Given the description of an element on the screen output the (x, y) to click on. 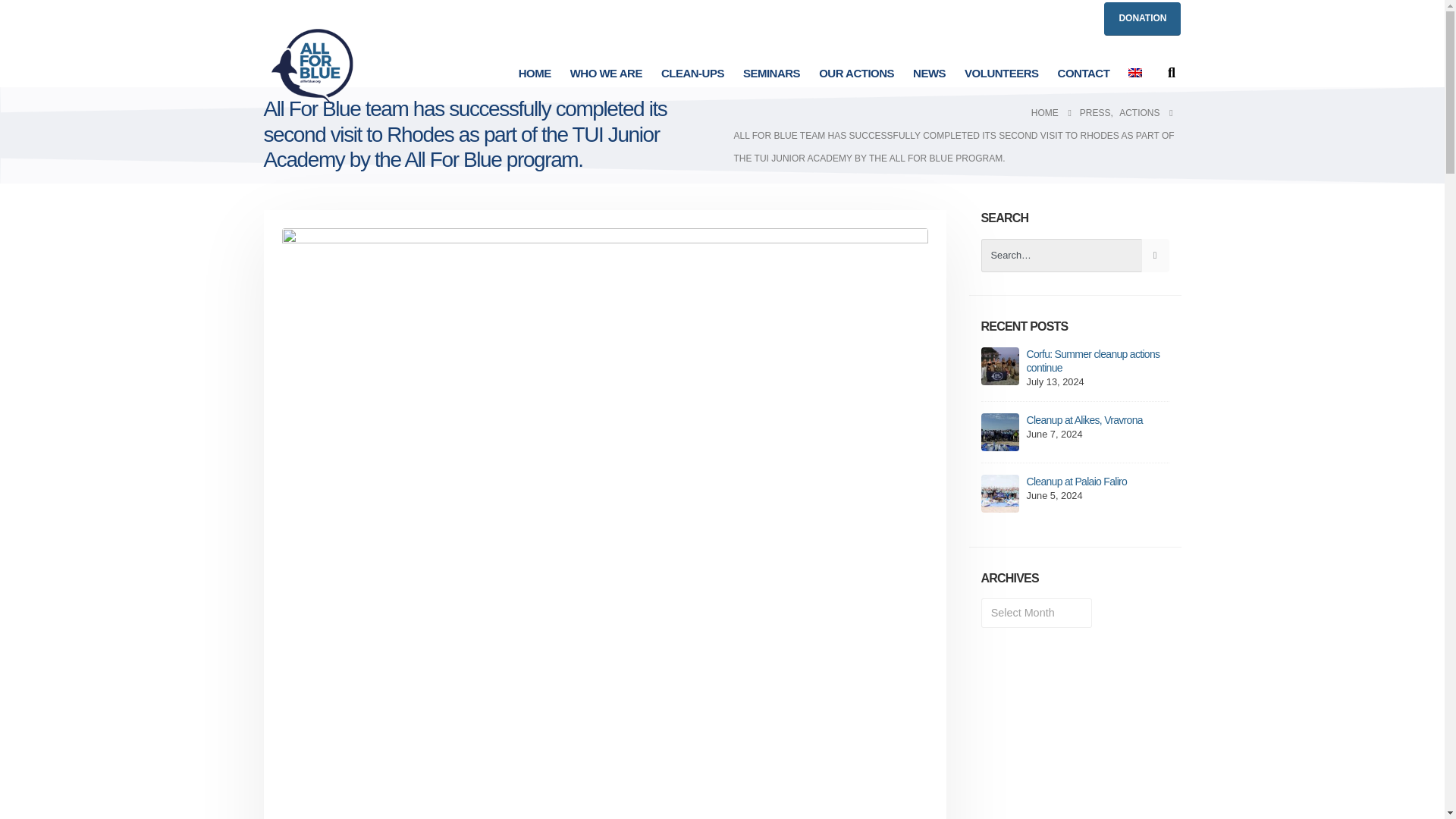
Go to Home Page (1044, 112)
WHO WE ARE (605, 72)
CONTACT (1083, 72)
DONATION (1141, 18)
CLEAN-UPS (692, 72)
SEMINARS (771, 72)
NEWS (929, 72)
VOLUNTEERS (1001, 72)
HOME (534, 72)
OUR ACTIONS (855, 72)
